Given the description of an element on the screen output the (x, y) to click on. 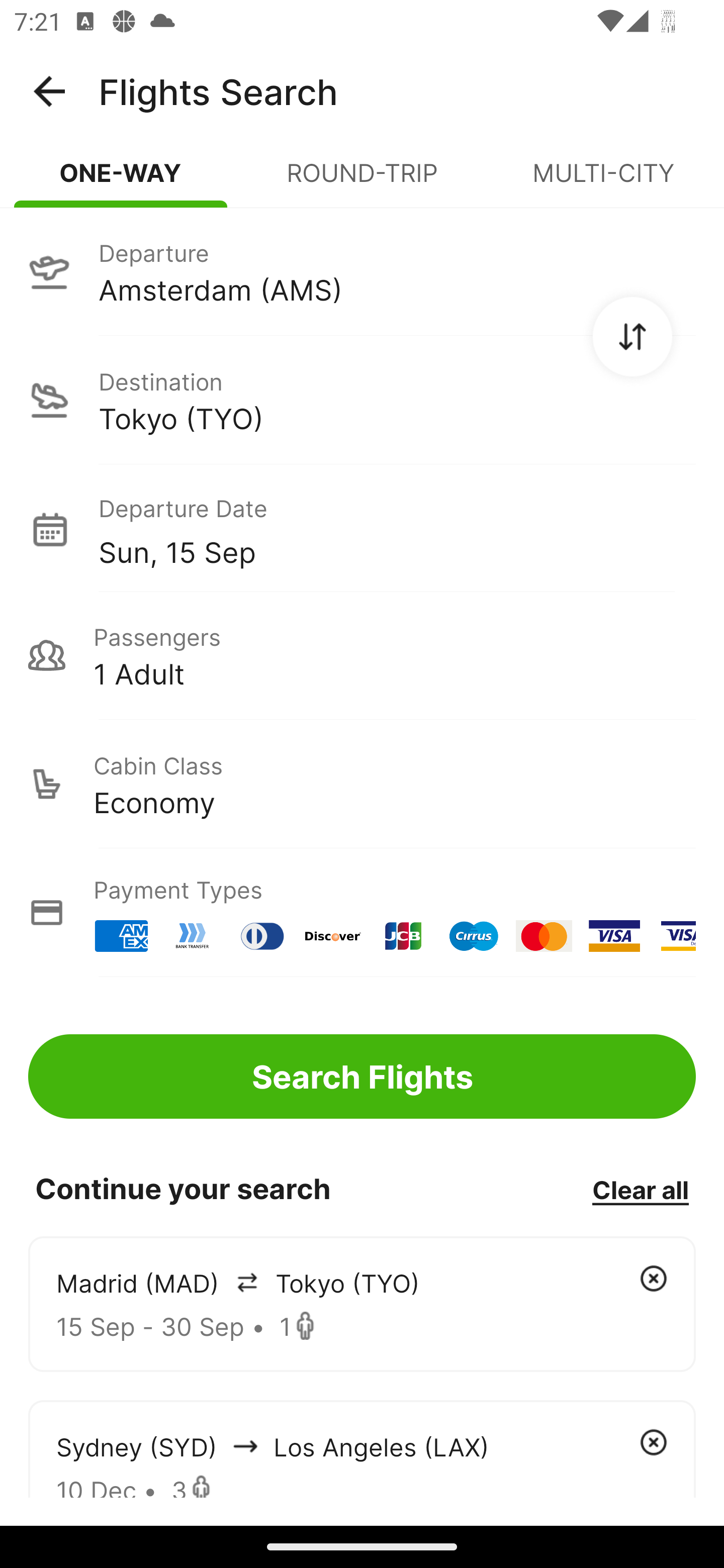
ONE-WAY (120, 180)
ROUND-TRIP (361, 180)
MULTI-CITY (603, 180)
Departure Amsterdam (AMS) (362, 270)
Destination Tokyo (TYO) (362, 400)
Departure Date Sun, 15 Sep (396, 528)
Passengers 1 Adult (362, 655)
Cabin Class Economy (362, 783)
Payment Types (362, 912)
Search Flights (361, 1075)
Clear all (640, 1189)
